Given the description of an element on the screen output the (x, y) to click on. 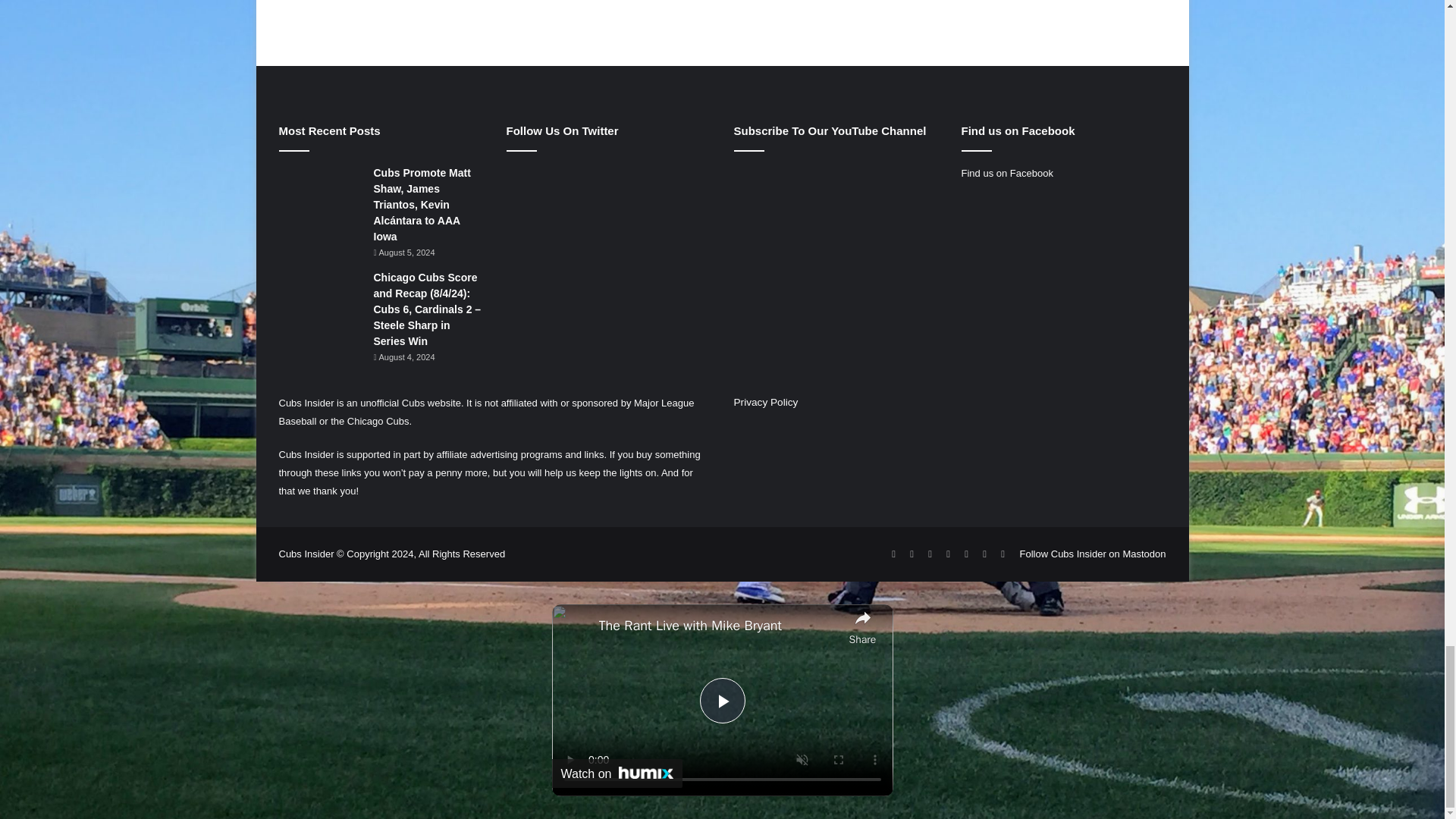
Play Video (721, 700)
